Given the description of an element on the screen output the (x, y) to click on. 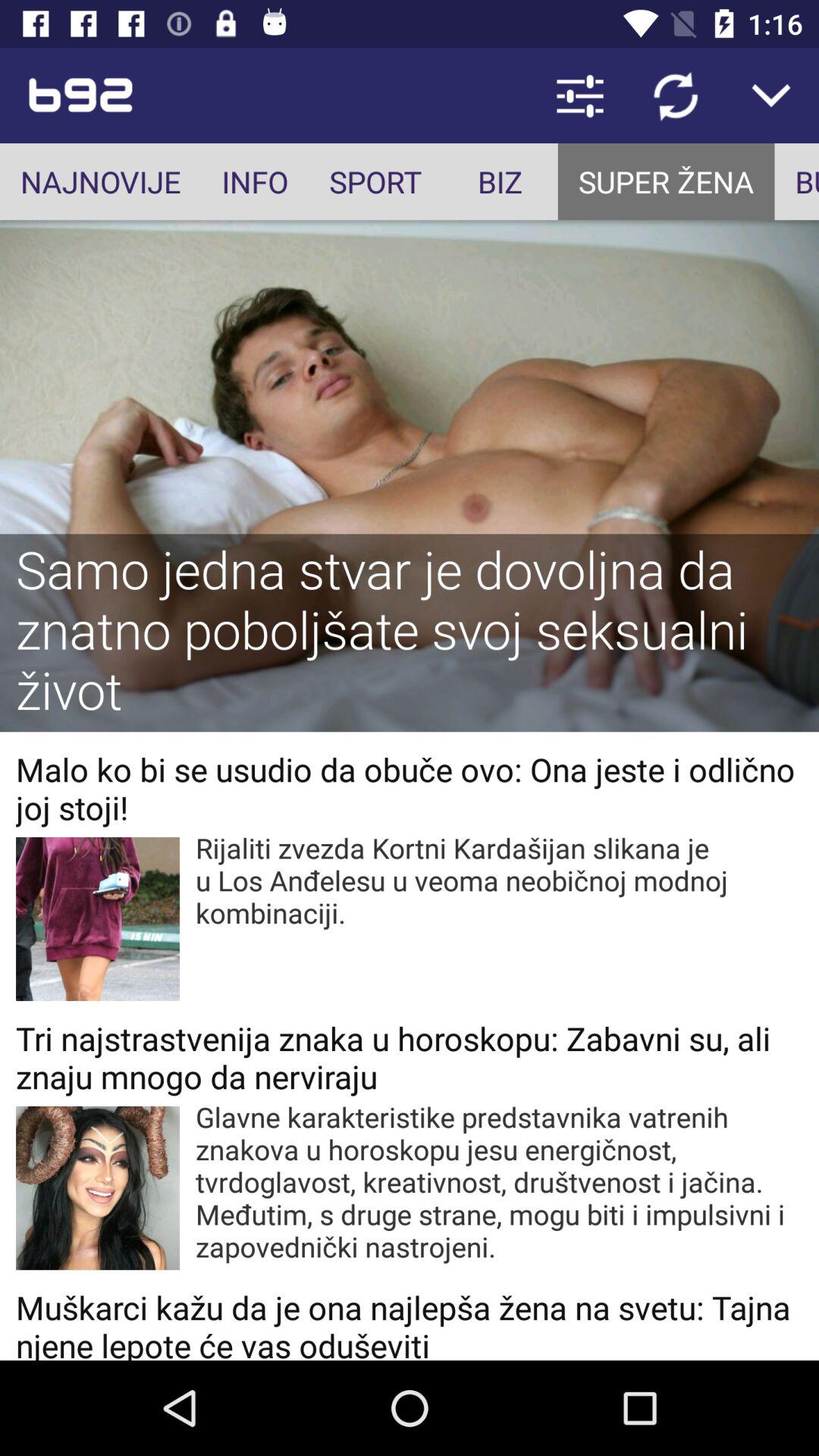
choose the app below the malo ko bi item (499, 880)
